Given the description of an element on the screen output the (x, y) to click on. 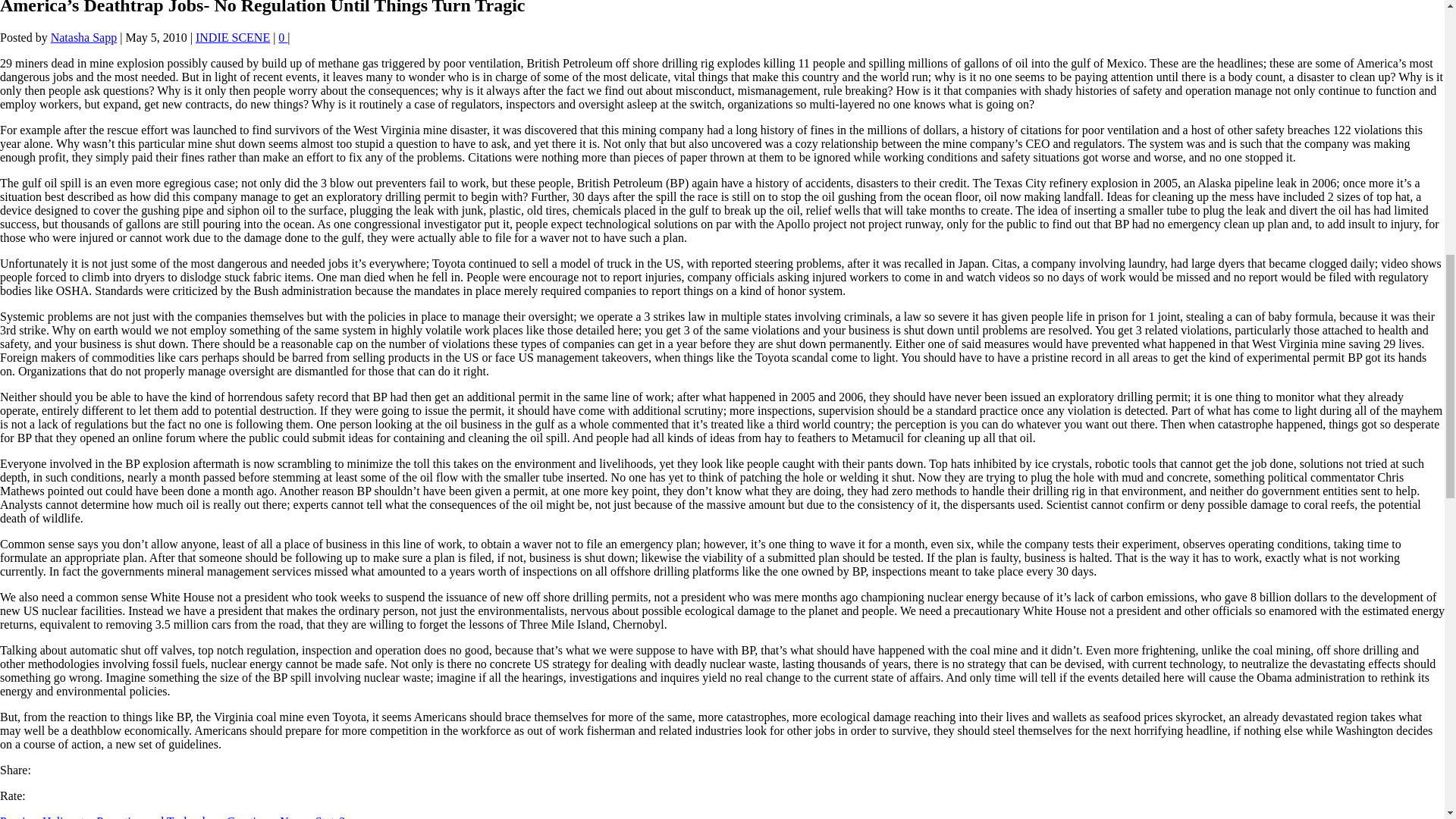
Posts by Natasha Sapp (83, 37)
